Given the description of an element on the screen output the (x, y) to click on. 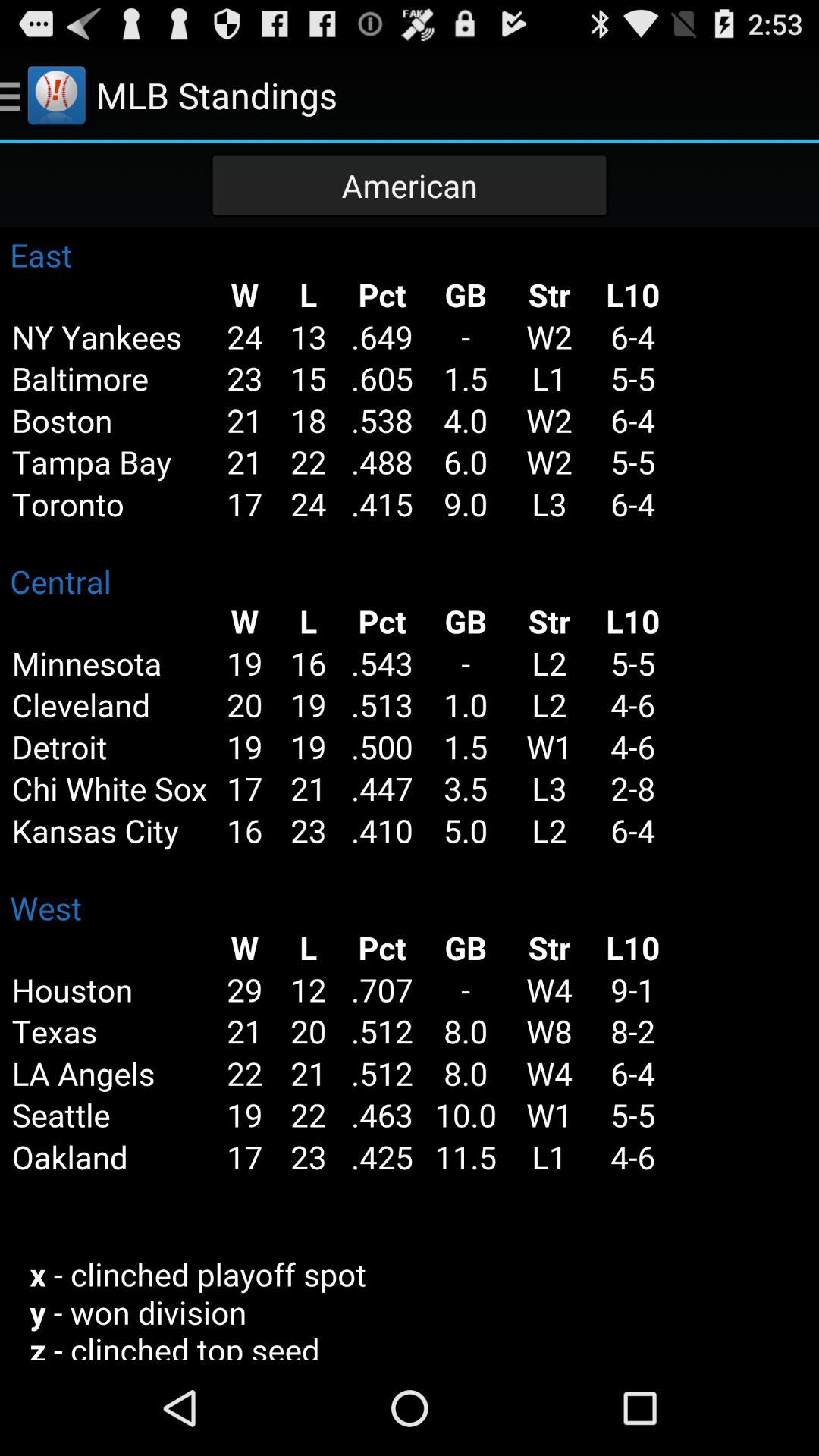
team standing table (409, 793)
